Given the description of an element on the screen output the (x, y) to click on. 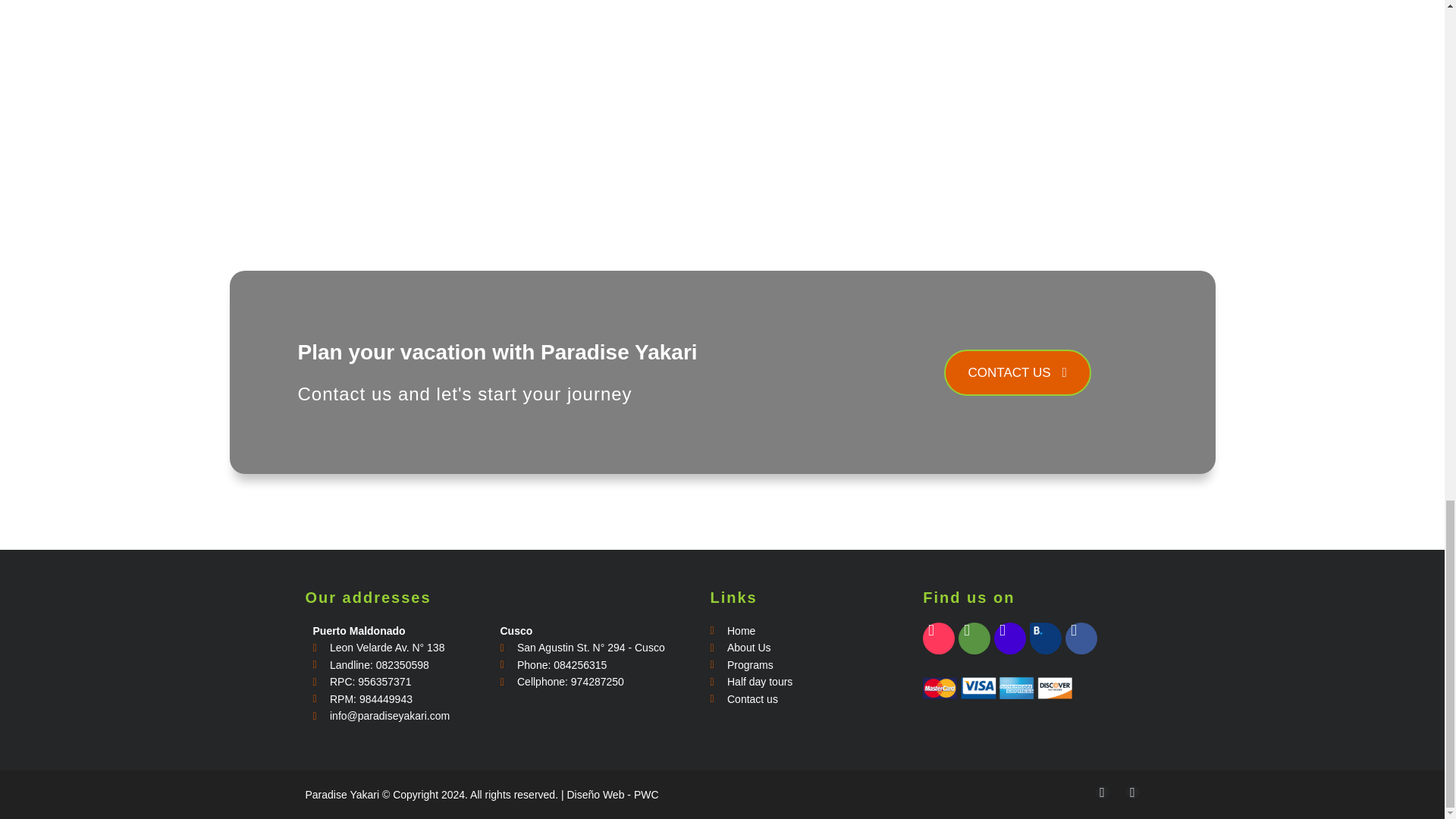
Cellphone: 974287250 (585, 682)
RPC: 956357371 (398, 682)
About Us (801, 647)
Programs (801, 665)
Contact us (801, 699)
RPM: 984449943 (398, 699)
Landline: 082350598 (398, 665)
Half day tours (801, 682)
CONTACT US (1016, 372)
Phone: 084256315 (585, 665)
